Given the description of an element on the screen output the (x, y) to click on. 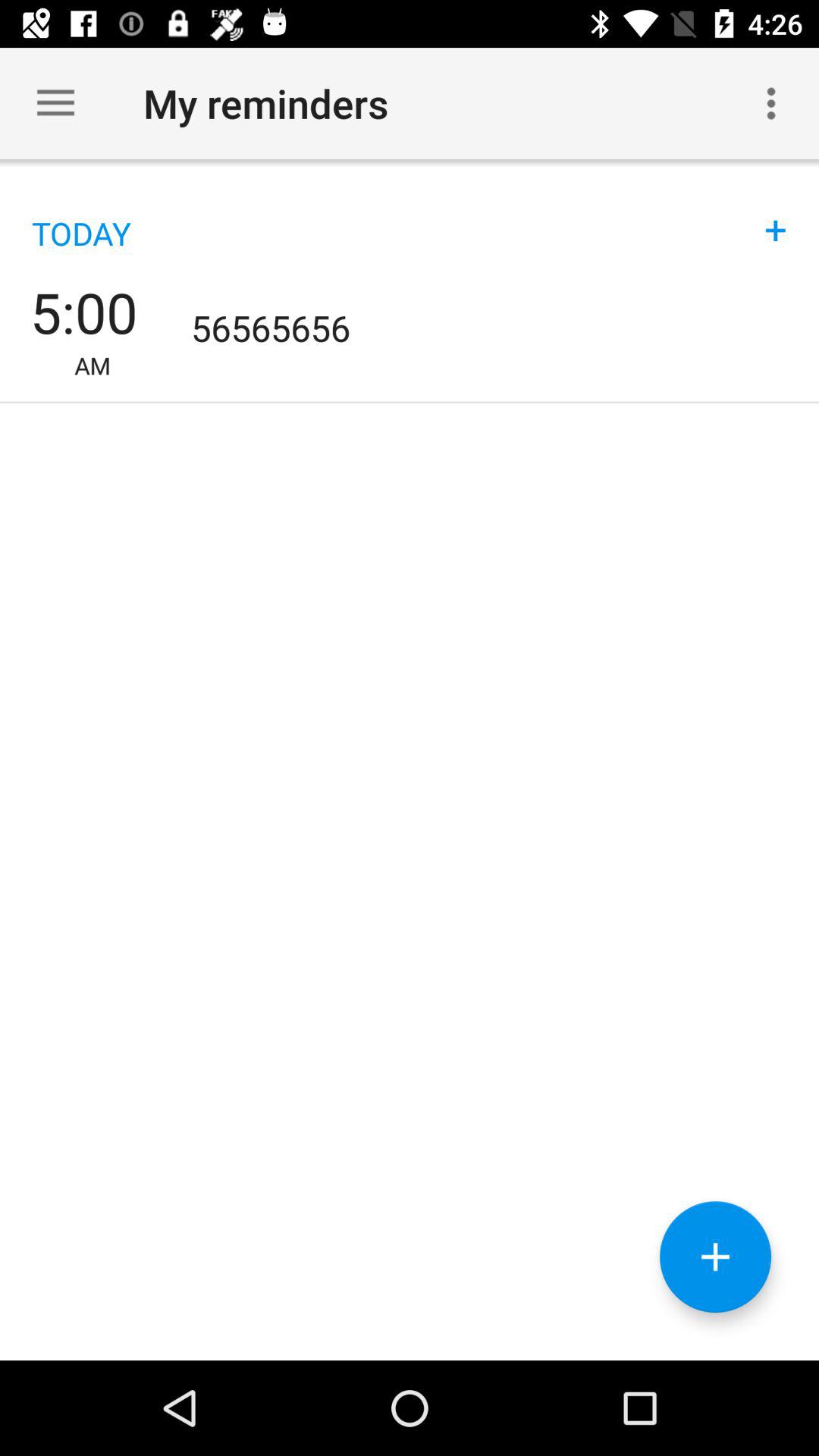
click icon above 56565656 item (775, 214)
